Given the description of an element on the screen output the (x, y) to click on. 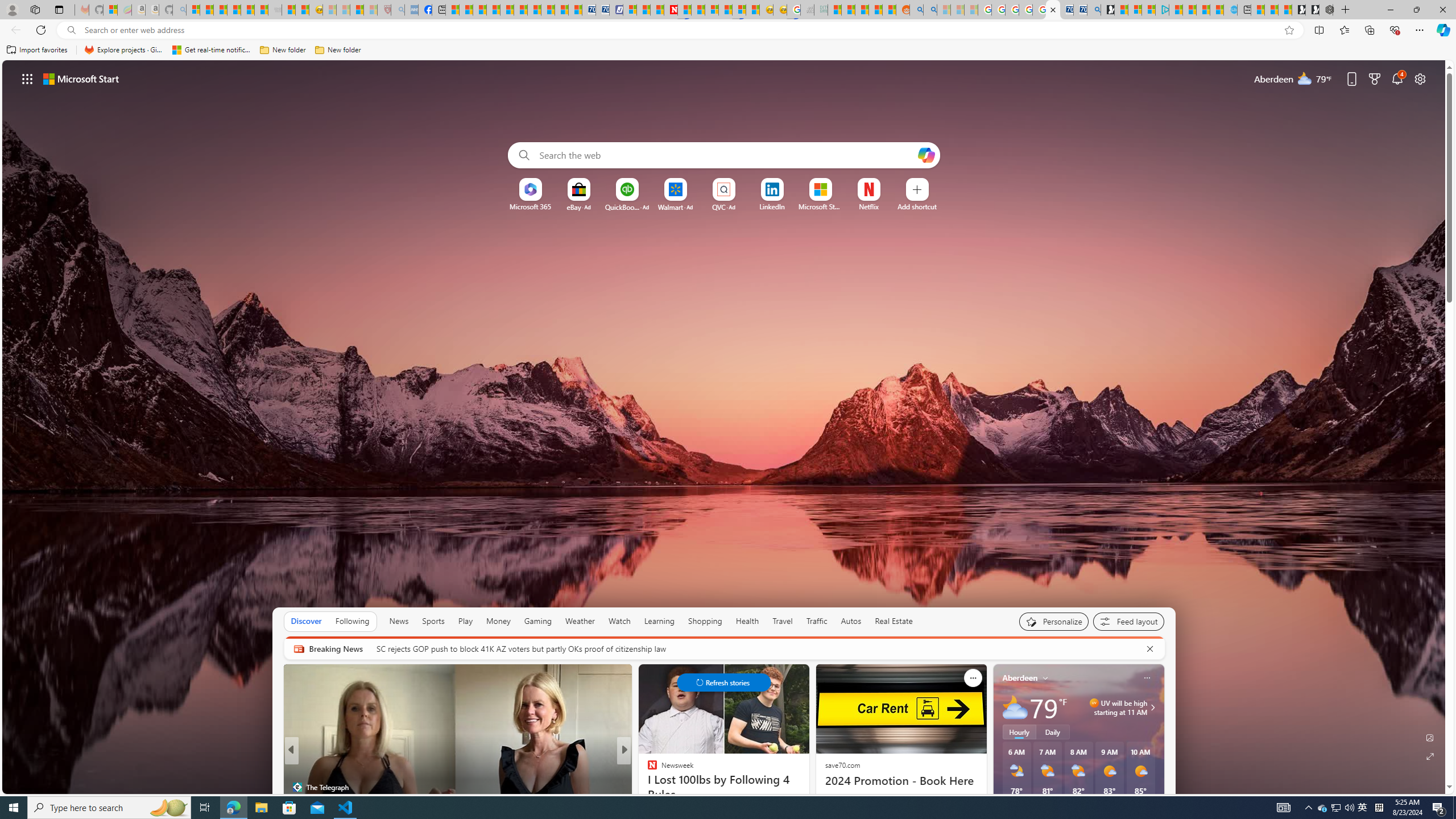
Hourly (1018, 731)
Mostly cloudy (1014, 707)
Microsoft-Report a Concern to Bing (110, 9)
Navy Quest (806, 9)
Stocks - MSN (260, 9)
Enter your search term (726, 155)
Play (465, 621)
The Telegraph (296, 786)
